Given the description of an element on the screen output the (x, y) to click on. 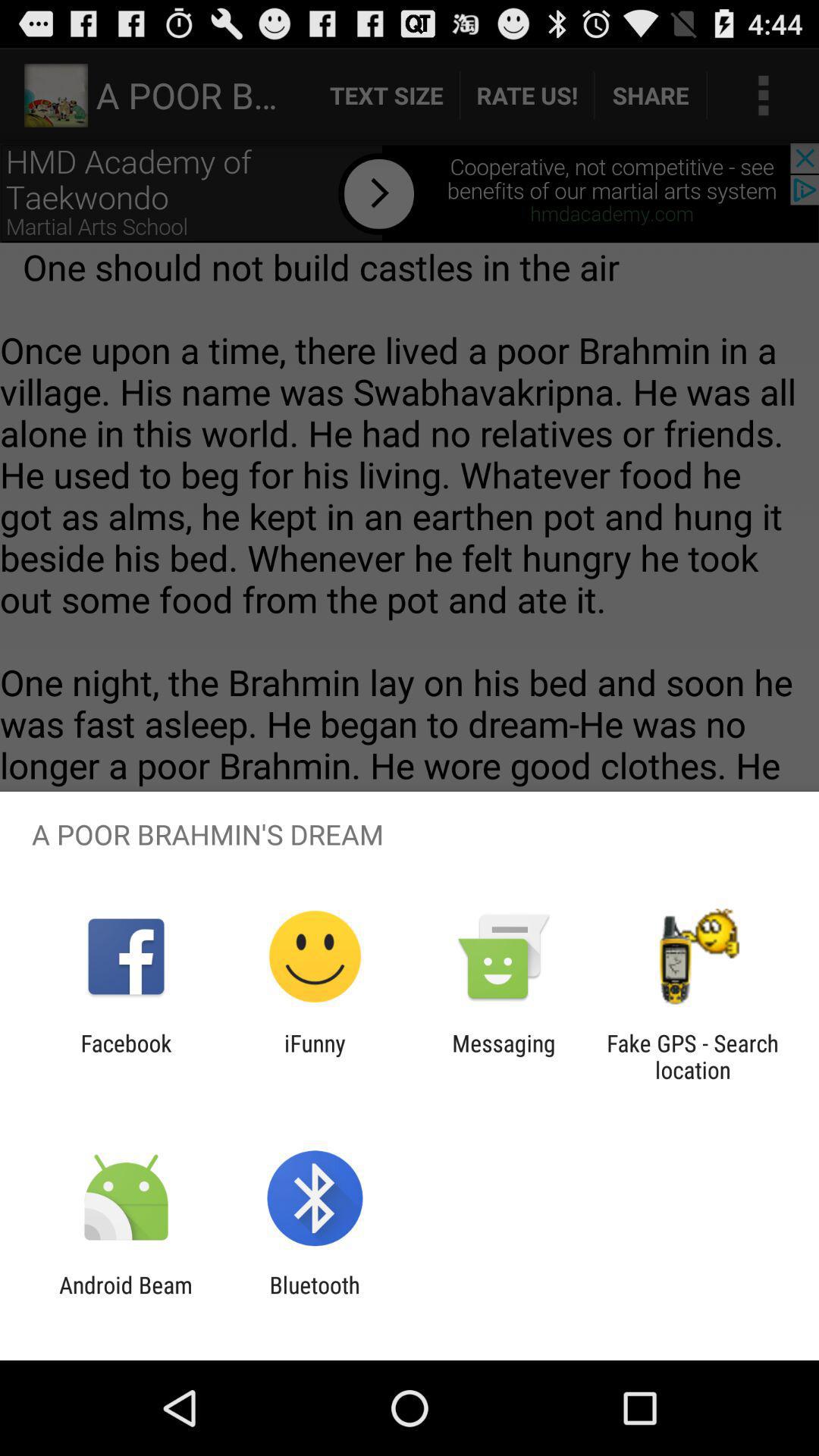
choose the icon to the left of messaging item (314, 1056)
